Given the description of an element on the screen output the (x, y) to click on. 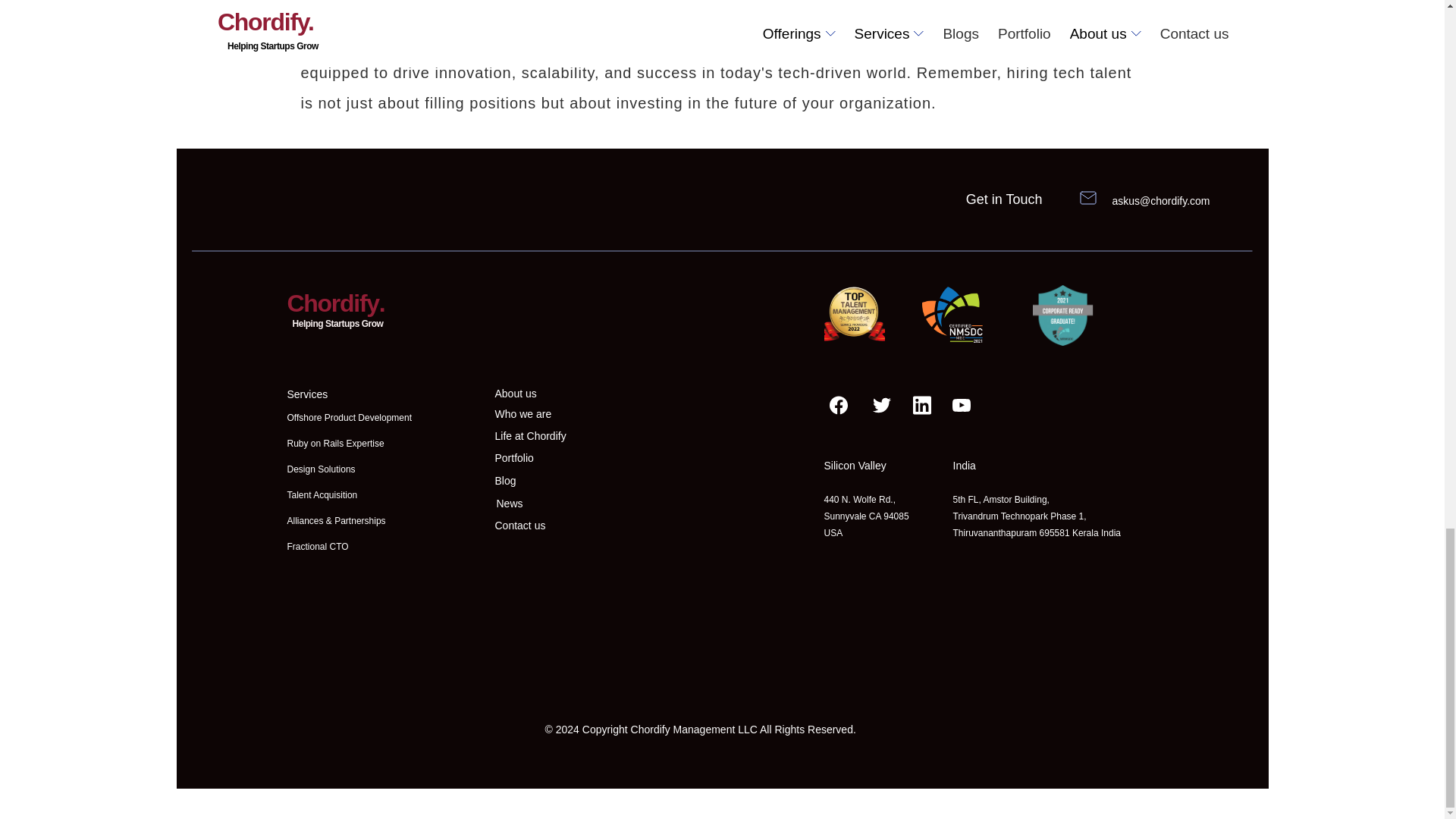
Blog (505, 480)
Talent Acquisition (321, 494)
Who we are (523, 413)
News (509, 503)
Portfolio (513, 458)
Life at Chordify (530, 435)
Contact us (519, 525)
Offshore Product Development (349, 417)
Ruby on Rails Expertise (335, 443)
Design Solutions (320, 469)
Fractional CTO (316, 546)
